Given the description of an element on the screen output the (x, y) to click on. 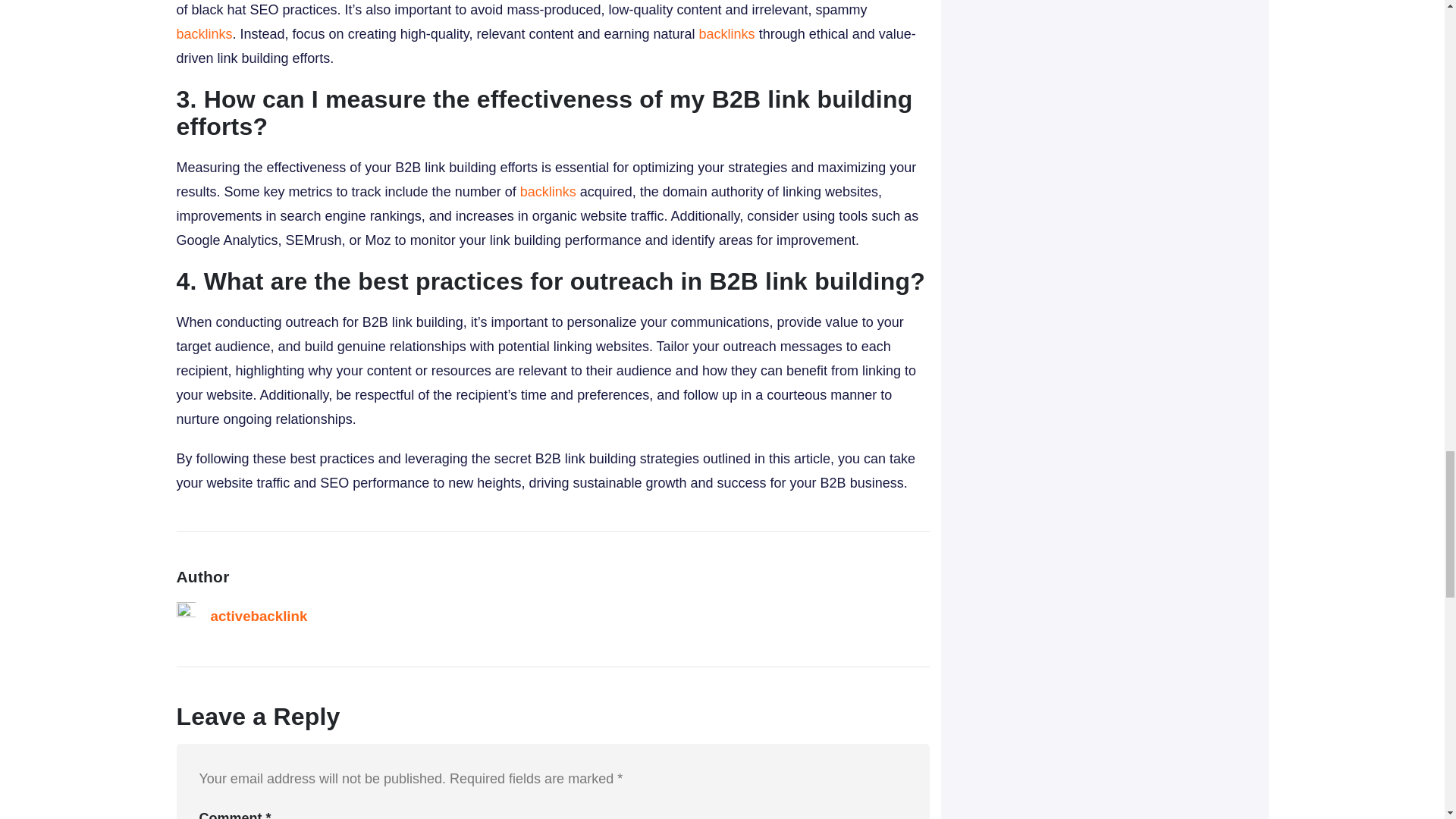
Posts by activebacklink (259, 616)
backlinks (547, 191)
backlinks (726, 33)
backlinks (203, 33)
activebacklink (259, 616)
